Given the description of an element on the screen output the (x, y) to click on. 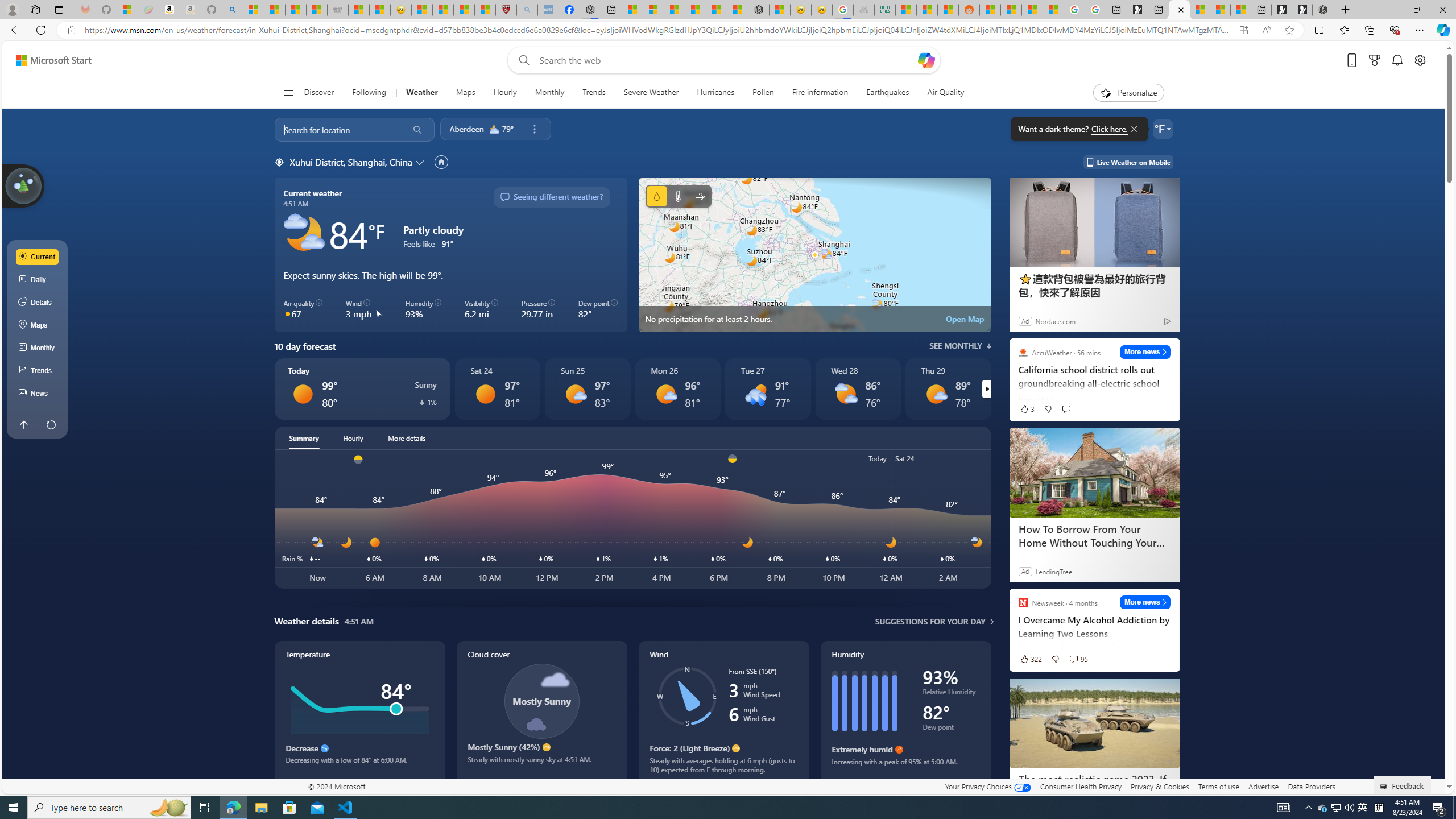
Trends (593, 92)
Navy Quest (863, 9)
Weather settings Want a dark theme?Click here. (1162, 128)
DITOGAMES AG Imprint (884, 9)
Open navigation menu (287, 92)
Discover (319, 92)
Following (368, 92)
Class: feedback_link_icon-DS-EntryPoint1-1 (1384, 786)
